Given the description of an element on the screen output the (x, y) to click on. 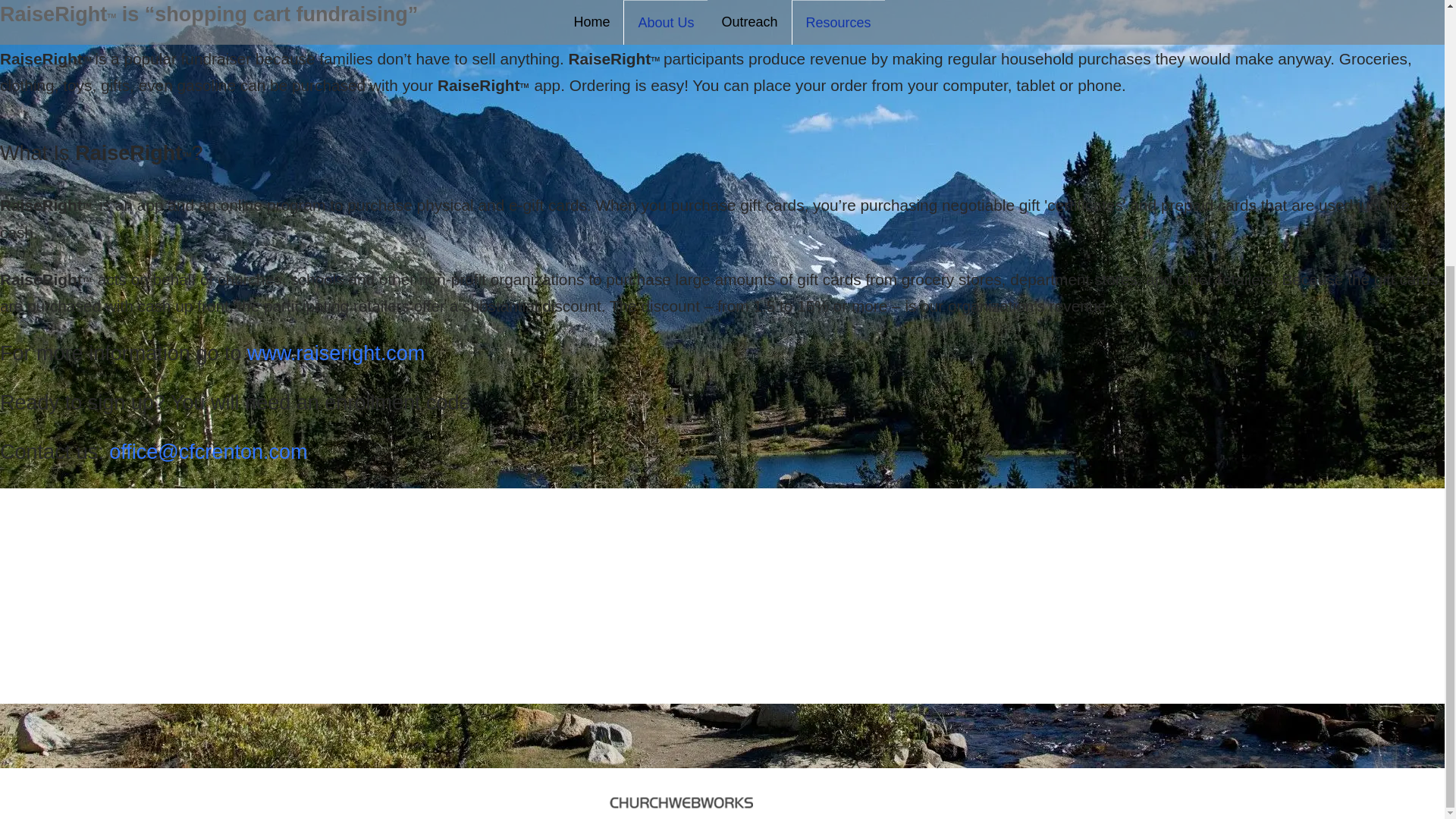
www.raiseright.com (336, 353)
